Given the description of an element on the screen output the (x, y) to click on. 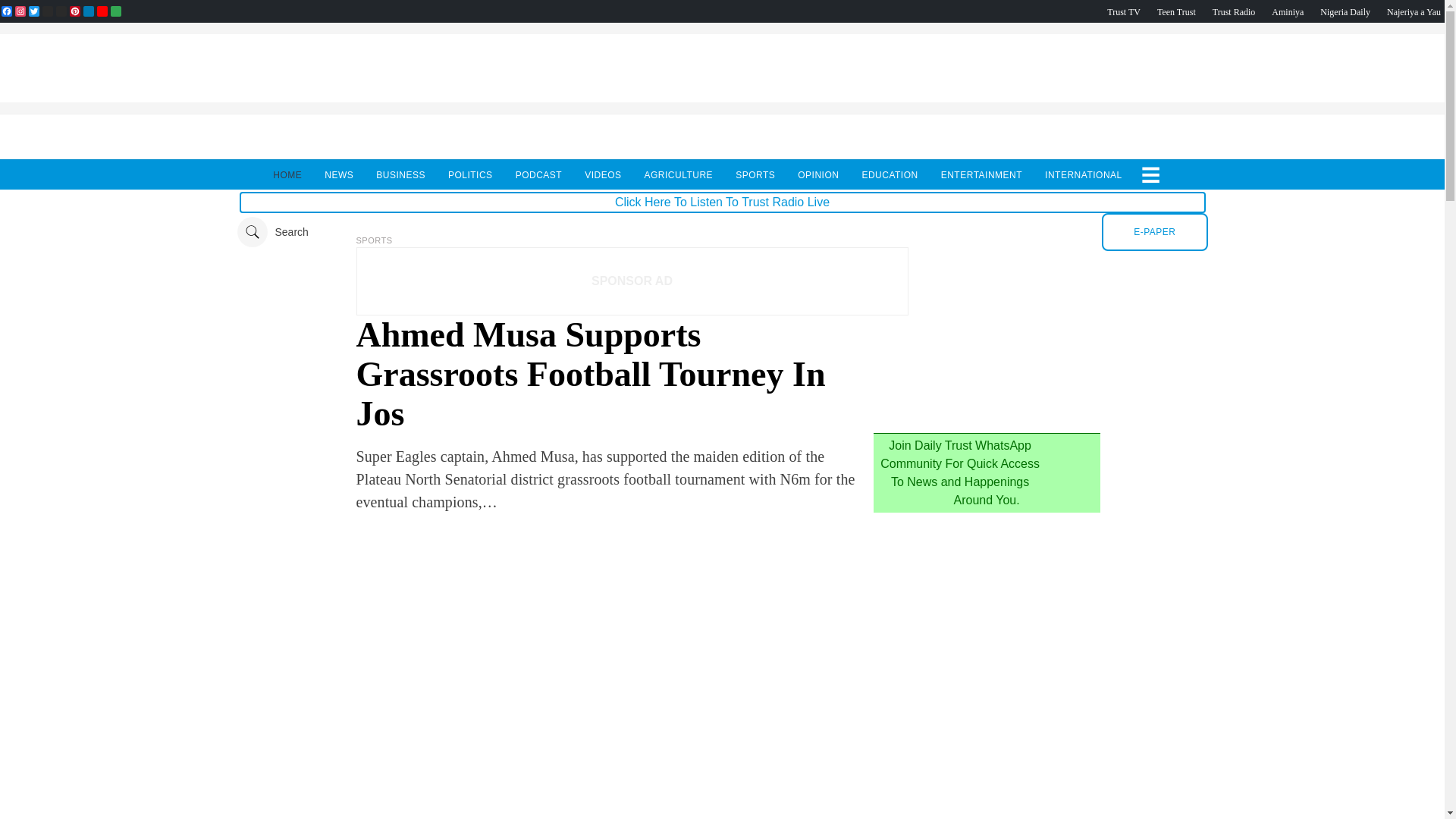
Teen Trust (1176, 11)
Nigeria Daily (1345, 11)
Instagram (20, 10)
Saurari Shirye Shiryenmu (1414, 11)
Trust TV (1123, 11)
Google Maps (115, 10)
Twitter (33, 10)
E-PAPER (1154, 231)
Pinterest (74, 10)
Teen Trust (1176, 11)
